Given the description of an element on the screen output the (x, y) to click on. 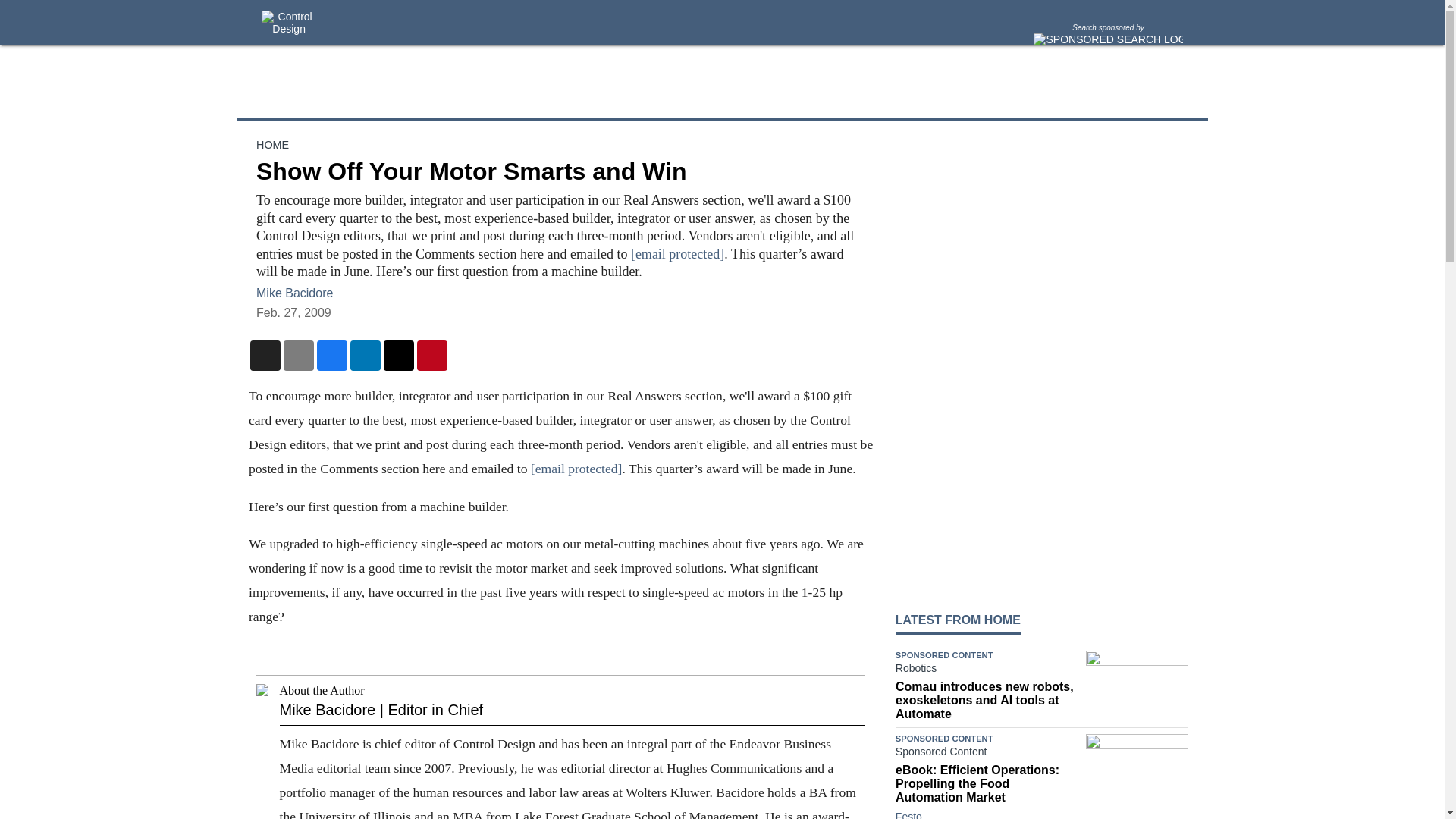
HOME (272, 144)
Sponsored Content (986, 754)
Mike Bacidore (294, 292)
Robotics (986, 670)
Festo (908, 814)
